Given the description of an element on the screen output the (x, y) to click on. 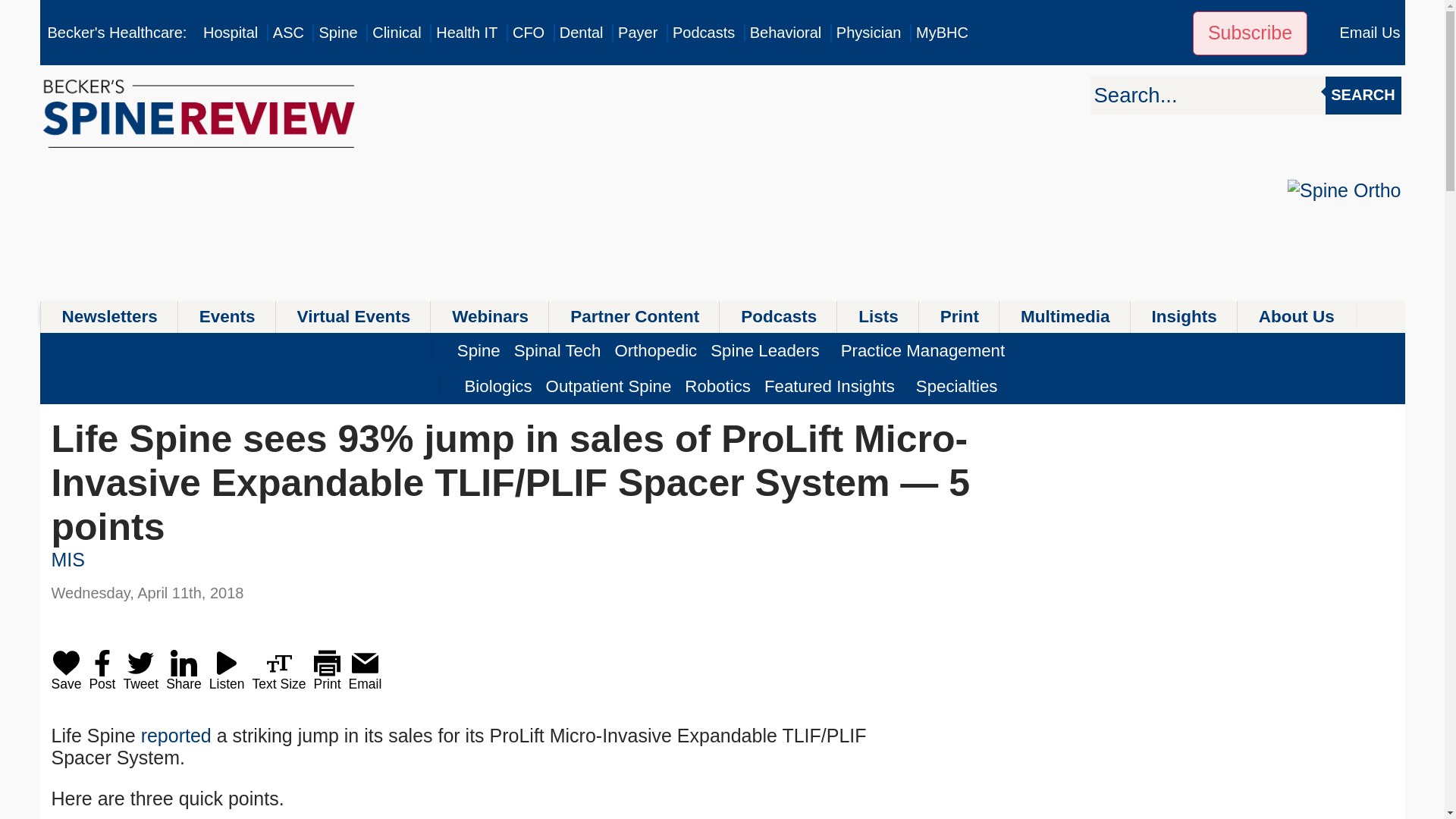
Becker's Payer Issues (637, 32)
Health IT (466, 32)
Physician (868, 32)
MyBHC (941, 32)
SEARCH (1362, 95)
Becker's Spine Review (337, 32)
Payer (637, 32)
Email Us (1369, 32)
Hospital (230, 32)
Becker's Dental Review (581, 32)
Behavioral (785, 32)
Clinical (396, 32)
MyBHC (941, 32)
Physician (868, 32)
Becker's Behavioral Health (785, 32)
